Given the description of an element on the screen output the (x, y) to click on. 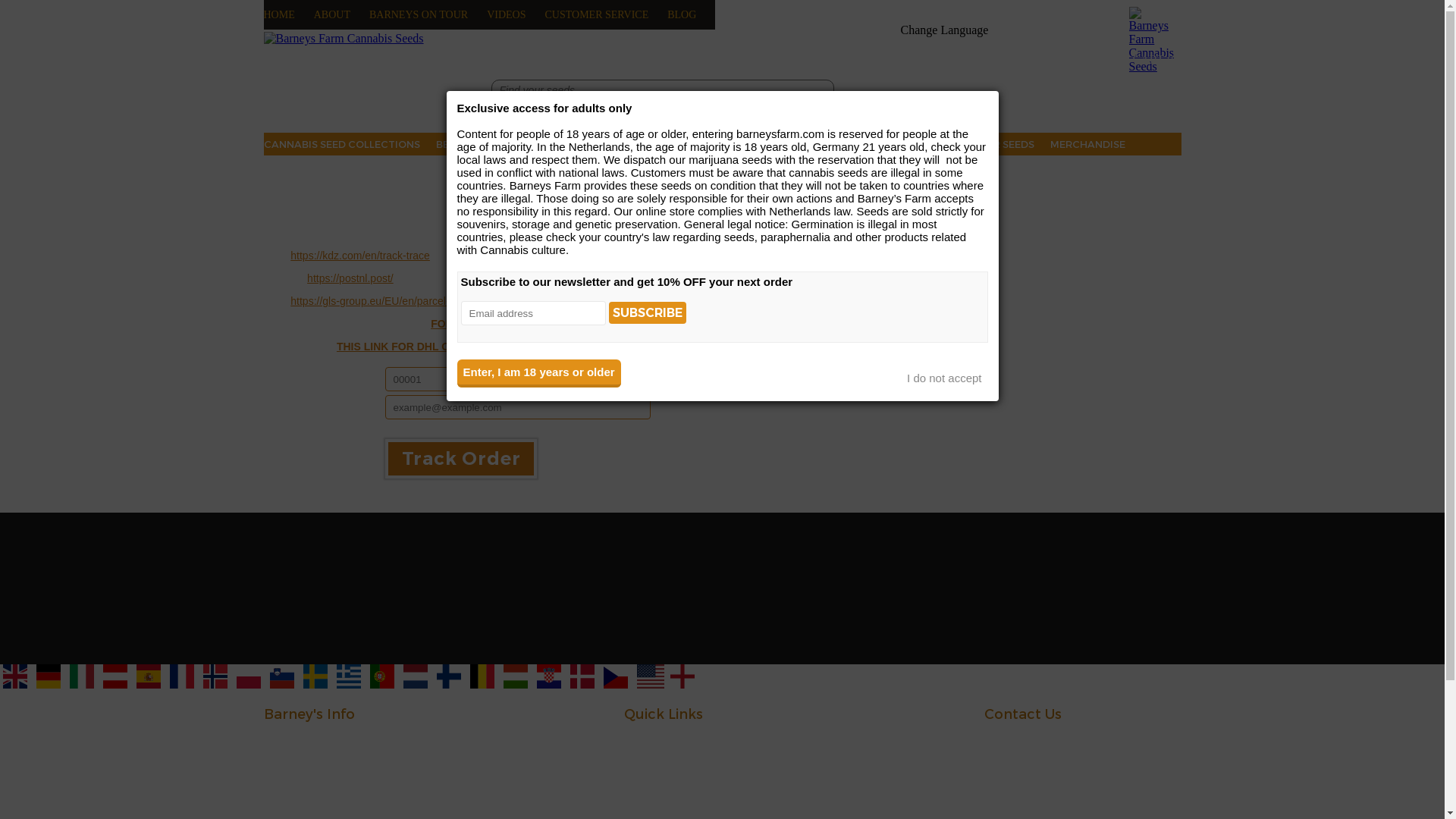
BEST SELLERS Element type: text (470, 143)
- Highest Yield Cannabis Strains Element type: text (702, 784)
- FAQ's Element type: text (342, 784)
- Cali Weed Strains Element type: text (702, 754)
Barneys Farm Cannabis Seeds Element type: hover (1150, 39)
Barney's On Tour Element type: text (342, 769)
HOME Element type: text (278, 170)
Customer Service Element type: text (521, 784)
Home Element type: text (342, 738)
I do not accept Element type: text (943, 377)
https://gls-group.eu/EU/en/parcel-tracking Element type: text (388, 300)
About Barneys Element type: text (342, 754)
Track Order Element type: text (461, 458)
Terms & Conditions Element type: text (881, 769)
NEW RELEASES Element type: text (559, 143)
FEMINIZED SEEDS Element type: text (769, 143)
SUBSCRIBE Element type: text (647, 312)
REGULAR SEEDS Element type: text (993, 143)
Disclaimer Element type: text (521, 769)
VIDEOS Element type: text (505, 14)
THIS LINK FOR DHL ORDER TRACKING Element type: text (437, 346)
BARNEYS ON TOUR Element type: text (418, 14)
Catalogue Download Element type: text (881, 754)
HERE APC ORDER TRACKING Element type: text (637, 346)
BLOG Element type: text (681, 14)
Cannabis Seed Collections Element type: text (702, 738)
TRACK MY ORDER Element type: text (359, 170)
Privacy Policy & Cookie Usage Element type: text (881, 784)
Videos Element type: text (521, 738)
https://kdz.com/en/track-trace Element type: text (359, 255)
ABOUT Element type: text (331, 14)
https://postnl.post/ Element type: text (350, 278)
MERCHANDISE Element type: text (1086, 143)
CANNABIS SEED COLLECTIONS Element type: text (341, 143)
CUSTOMER SERVICE Element type: text (596, 14)
Enter, I am 18 years or older Element type: text (538, 373)
HOME Element type: text (278, 14)
- Shipping & Returns Element type: text (342, 799)
AUTOFLOWER SEEDS Element type: text (883, 143)
Barneys Farm Cannabis Seeds Element type: hover (343, 38)
- High Thc Cannabis Strains Element type: text (702, 769)
Wholesale Cannabis Seeds Element type: text (881, 799)
Merchandise Element type: text (521, 754)
SHOPPING CART (0) Element type: text (1109, 59)
Job Vacancies Element type: text (521, 799)
Distributors & Retailers Element type: text (881, 738)
FOLLOW THIS LINK TO USA WEBSITE TRACKING Element type: text (557, 323)
info@barneysfarm.com Element type: text (1082, 796)
HIGH CBD STRAINS Element type: text (660, 143)
